Given the description of an element on the screen output the (x, y) to click on. 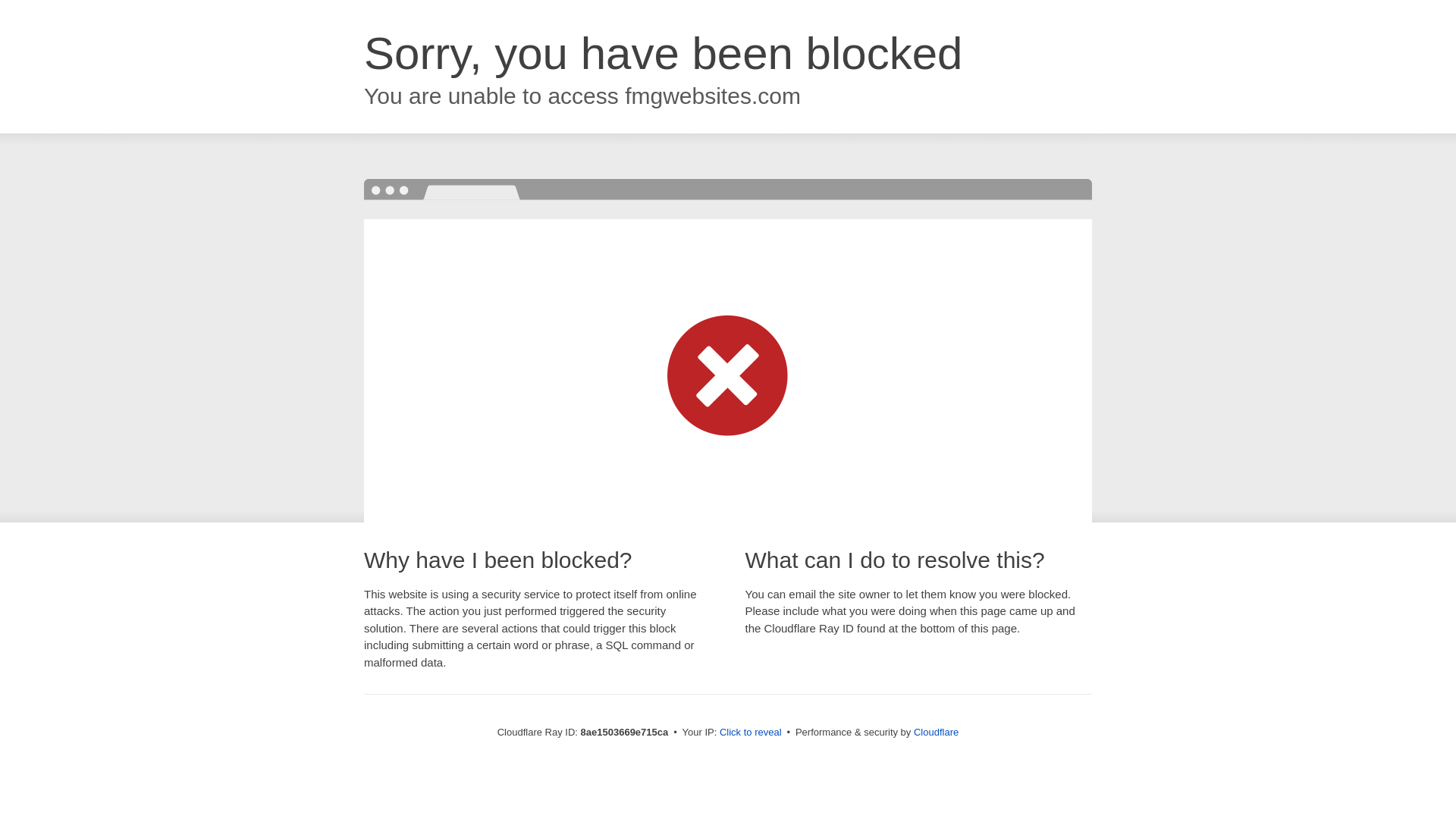
Click to reveal (750, 732)
Cloudflare (936, 731)
